Given the description of an element on the screen output the (x, y) to click on. 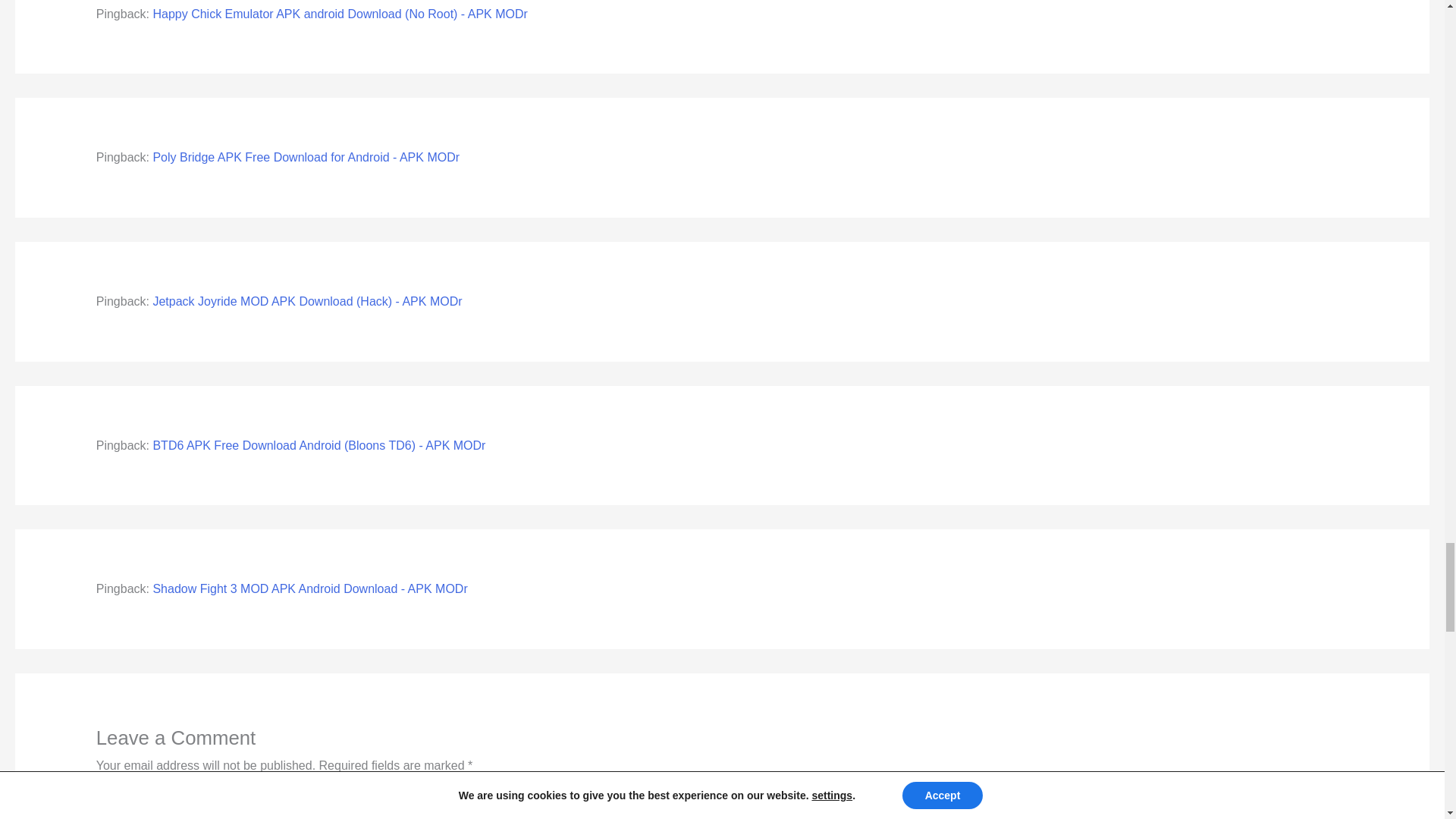
Shadow Fight 3 MOD APK Android Download - APK MODr (309, 588)
Poly Bridge APK Free Download for Android - APK MODr (306, 156)
